Given the description of an element on the screen output the (x, y) to click on. 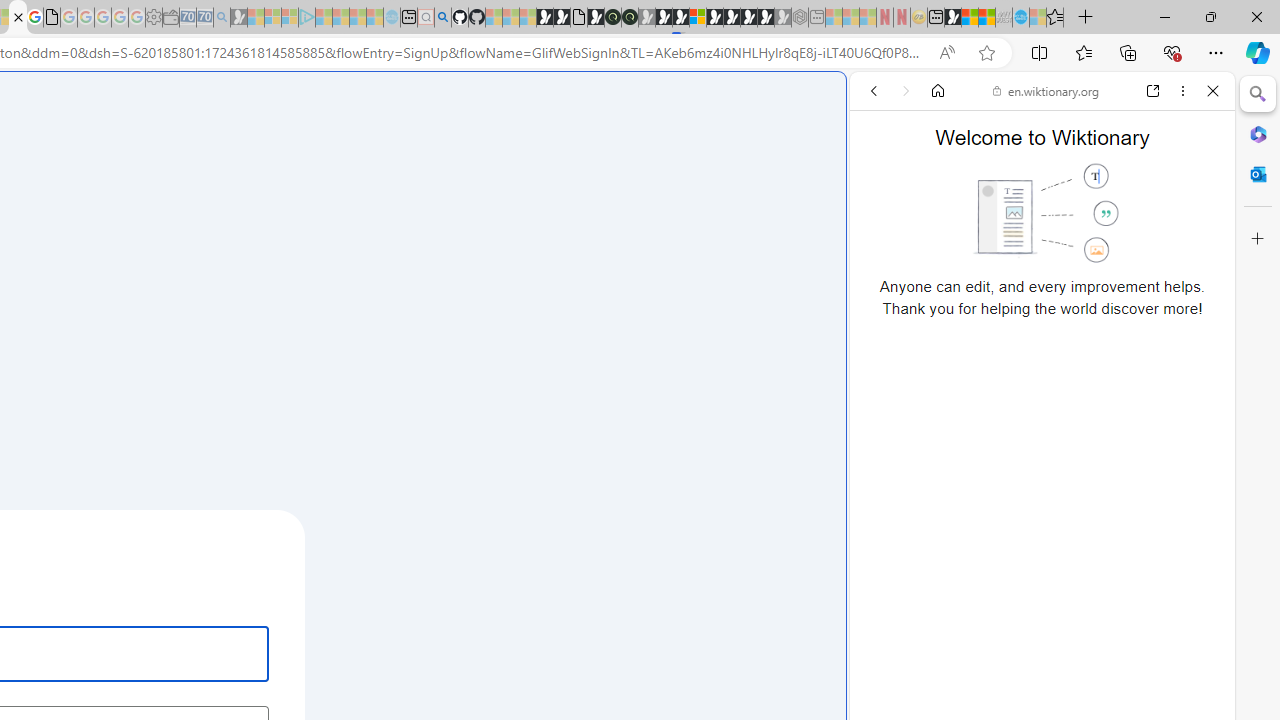
Future Focus Report 2024 (629, 17)
en.wiktionary.org (1046, 90)
